Given the description of an element on the screen output the (x, y) to click on. 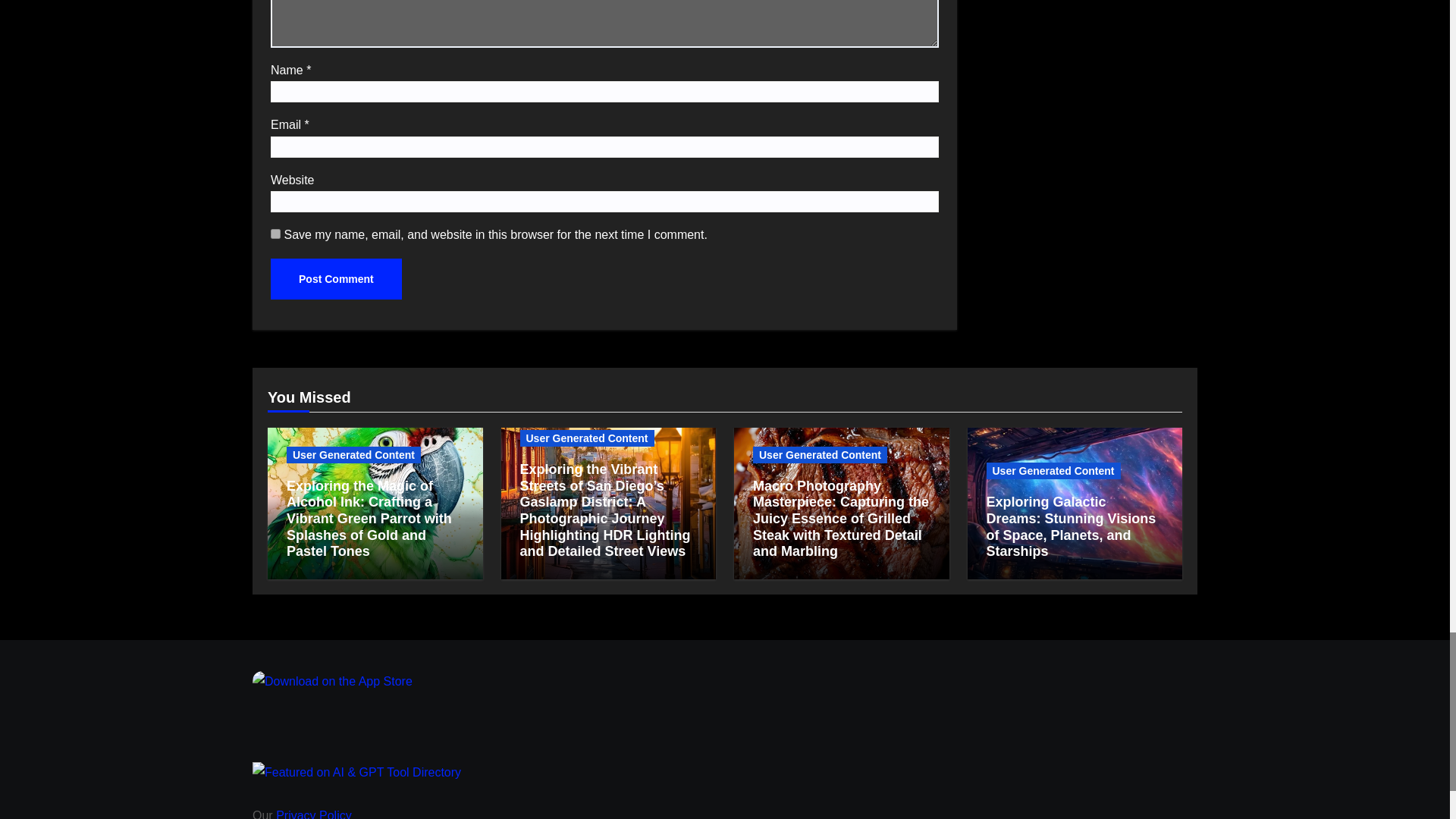
yes (275, 234)
Post Comment (335, 278)
